Given the description of an element on the screen output the (x, y) to click on. 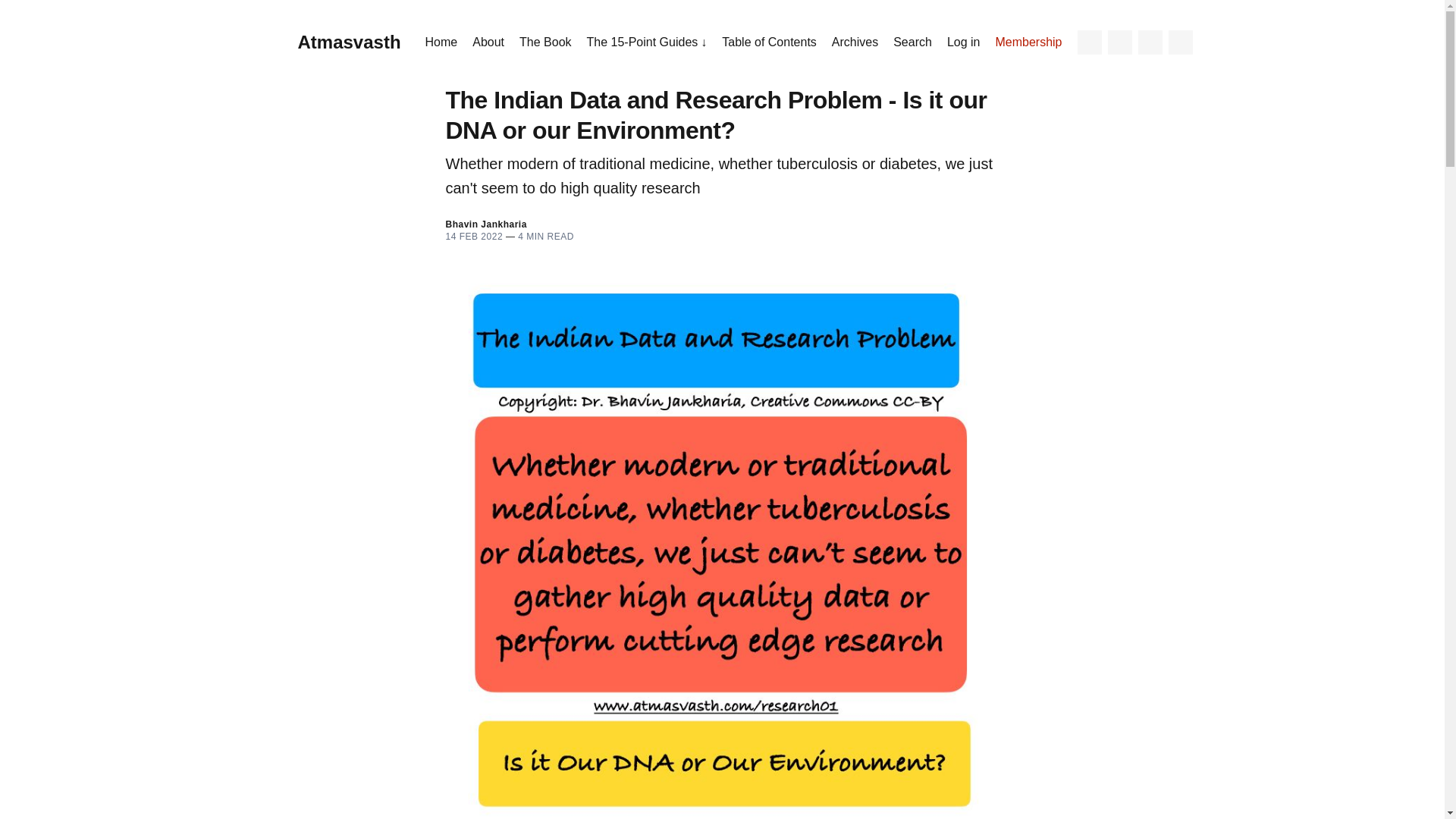
Membership (1027, 42)
Facebook (1120, 42)
The 15-Point Guides (646, 42)
Search (912, 42)
Log in (963, 42)
Bhavin Jankharia (486, 224)
Twitter (1089, 42)
About (487, 42)
Search (1180, 42)
Archives (854, 42)
